Given the description of an element on the screen output the (x, y) to click on. 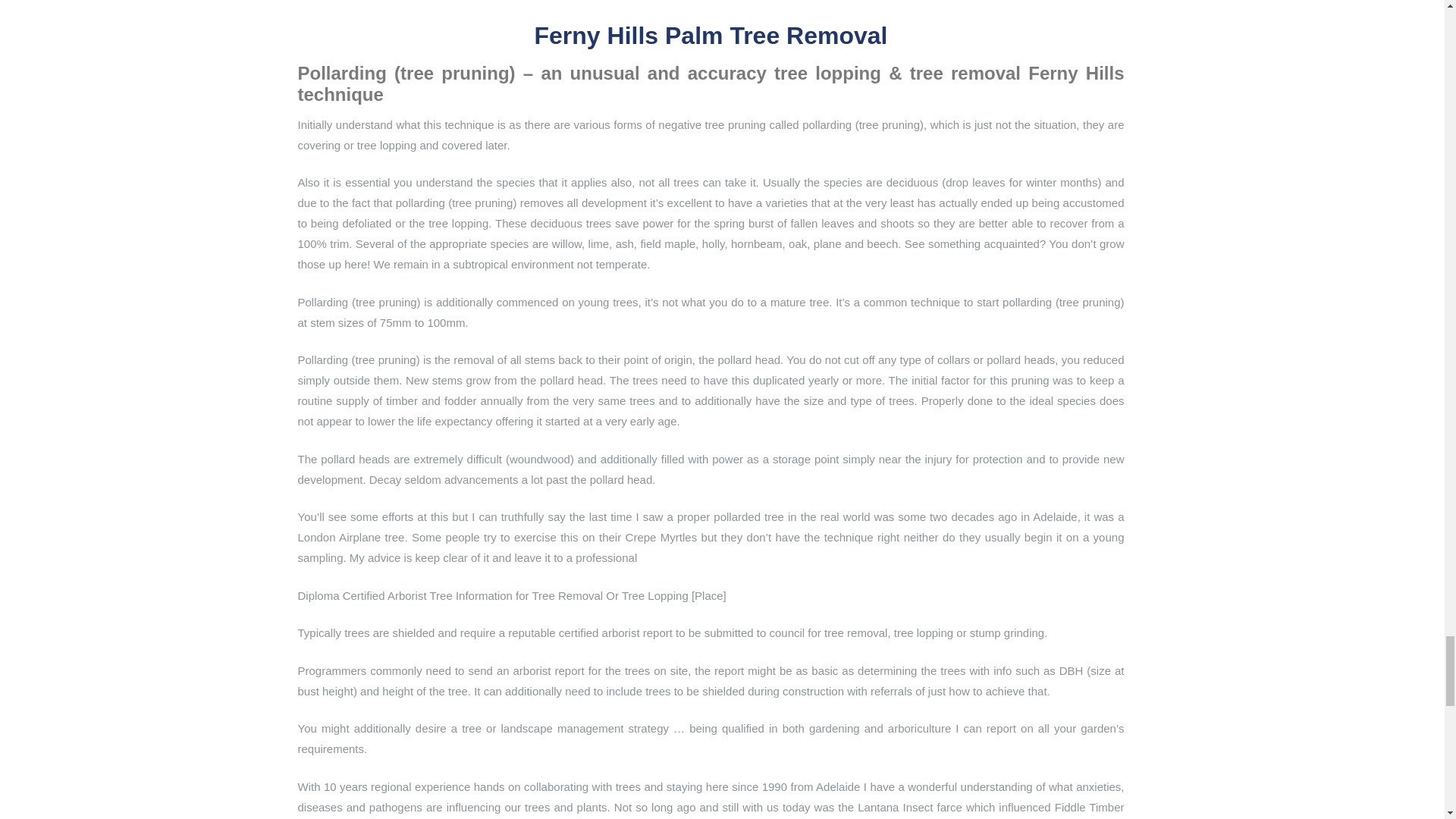
Ferny Hills Palm Tree Removal (710, 35)
